Given the description of an element on the screen output the (x, y) to click on. 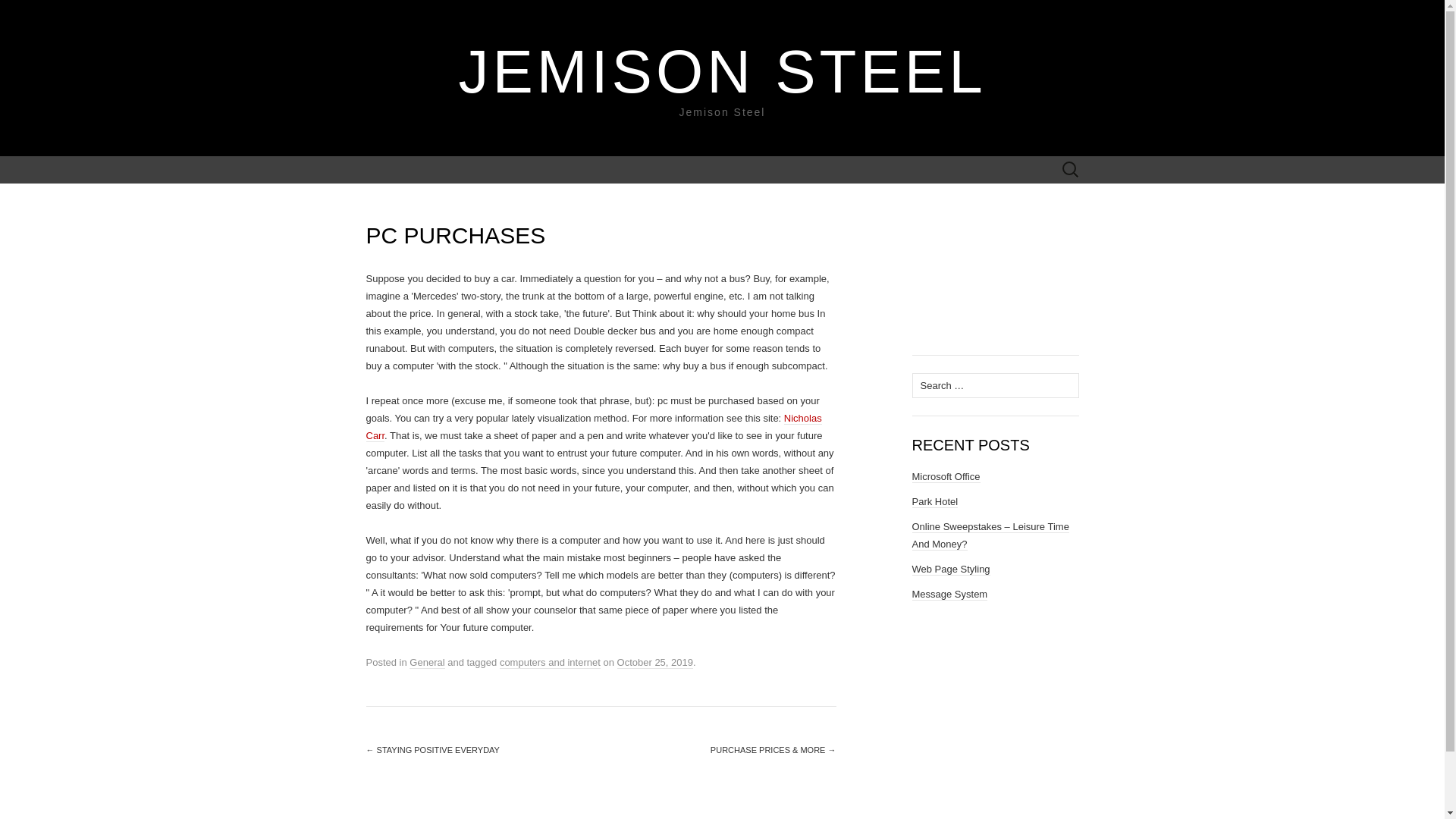
computers and internet (549, 662)
General (426, 662)
Search (16, 12)
Search (39, 12)
JEMISON STEEL (721, 71)
Park Hotel (934, 501)
Nicholas Carr (593, 427)
Microsoft Office (945, 476)
Jemison Steel (721, 71)
Message System (949, 594)
Web Page Styling (950, 569)
5:11 am (655, 662)
October 25, 2019 (655, 662)
